Given the description of an element on the screen output the (x, y) to click on. 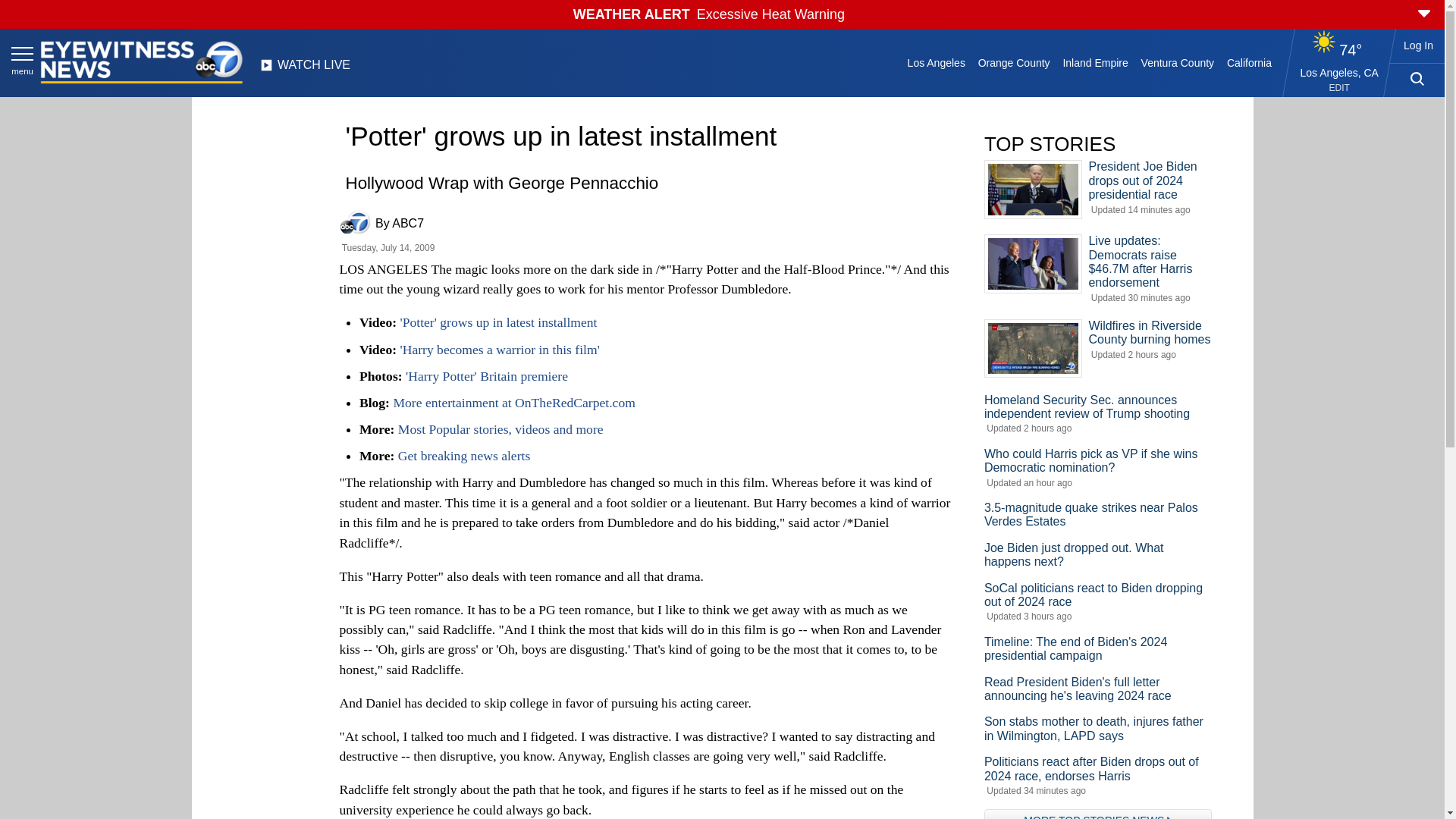
Ventura County (1177, 62)
EDIT (1339, 87)
California (1249, 62)
Los Angeles, CA (1339, 72)
Orange County (1014, 62)
Los Angeles (936, 62)
WATCH LIVE (305, 69)
Inland Empire (1095, 62)
